Given the description of an element on the screen output the (x, y) to click on. 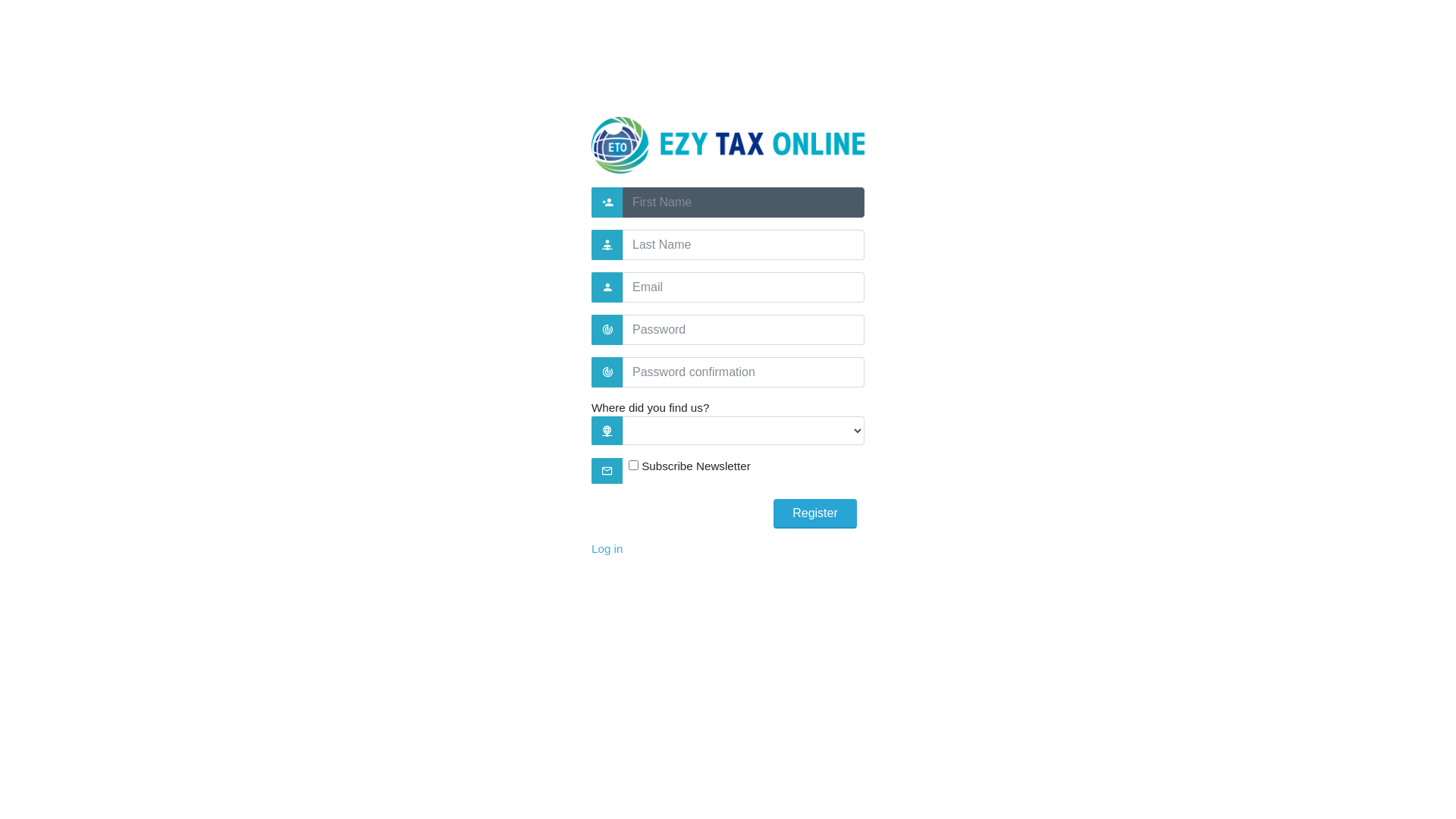
Log in Element type: text (606, 548)
Register Element type: text (814, 513)
